Given the description of an element on the screen output the (x, y) to click on. 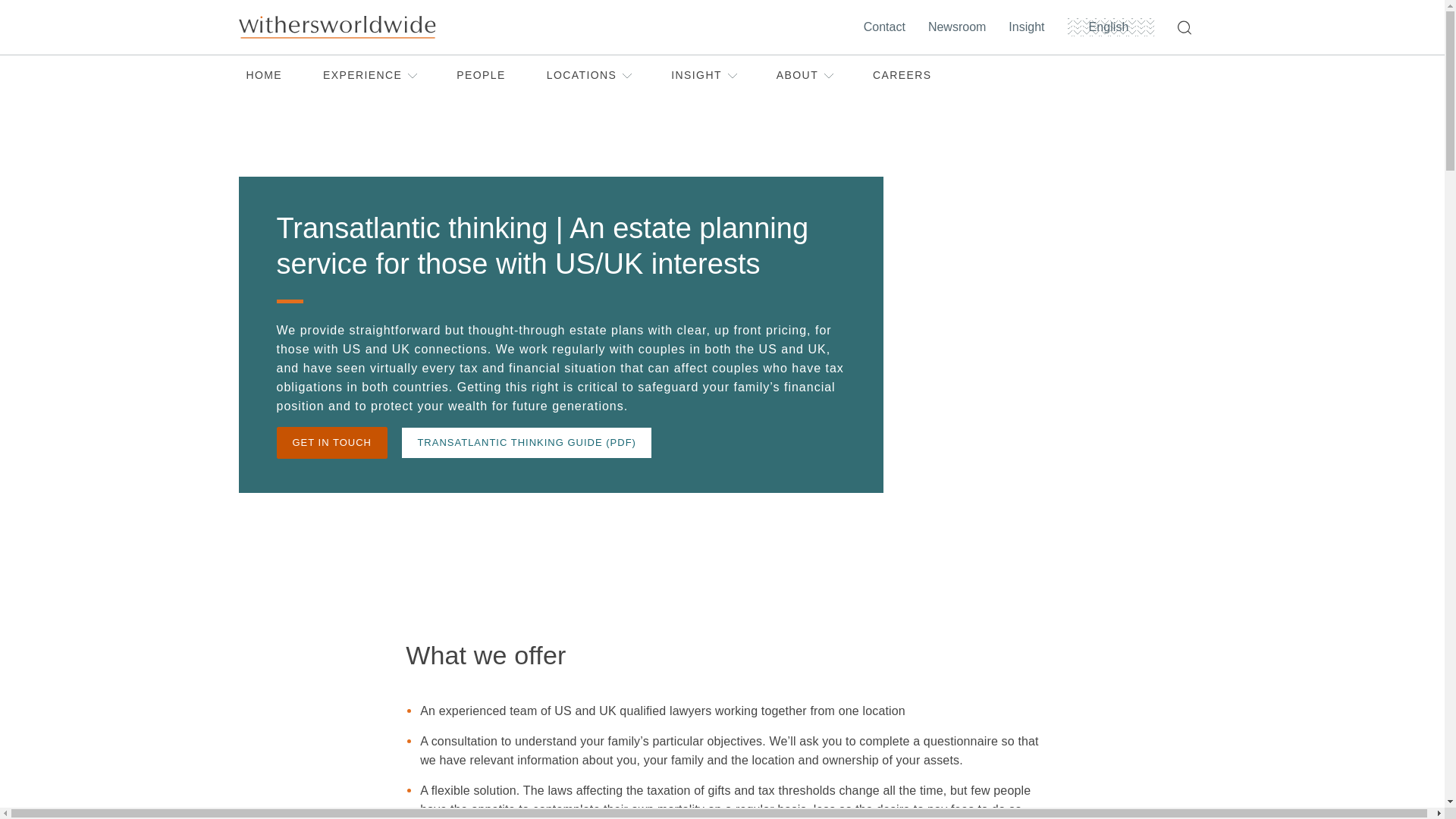
Contact (888, 27)
Home (336, 26)
Search (1187, 27)
Insight (1030, 27)
HOME (263, 75)
Newsroom (960, 27)
